Given the description of an element on the screen output the (x, y) to click on. 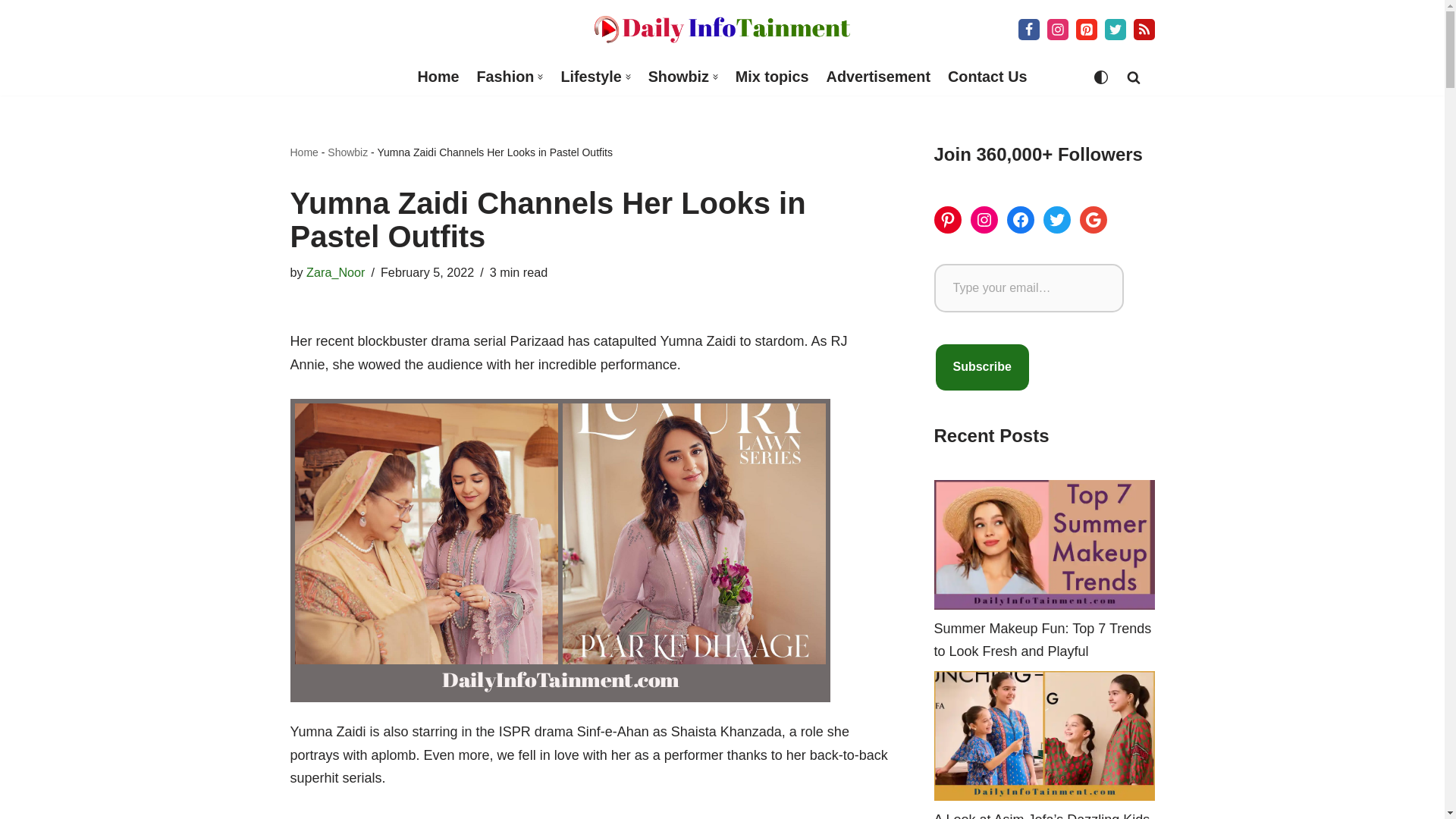
Pinterest (1085, 29)
Skip to content (11, 31)
Advertisement (878, 76)
Instagram (1056, 29)
Google News (1143, 29)
Twitter (1114, 29)
Facebook (1028, 29)
Contact Us (986, 76)
Home (438, 76)
Lifestyle (590, 76)
Showbiz (678, 76)
Fashion (505, 76)
Mix topics (772, 76)
